Given the description of an element on the screen output the (x, y) to click on. 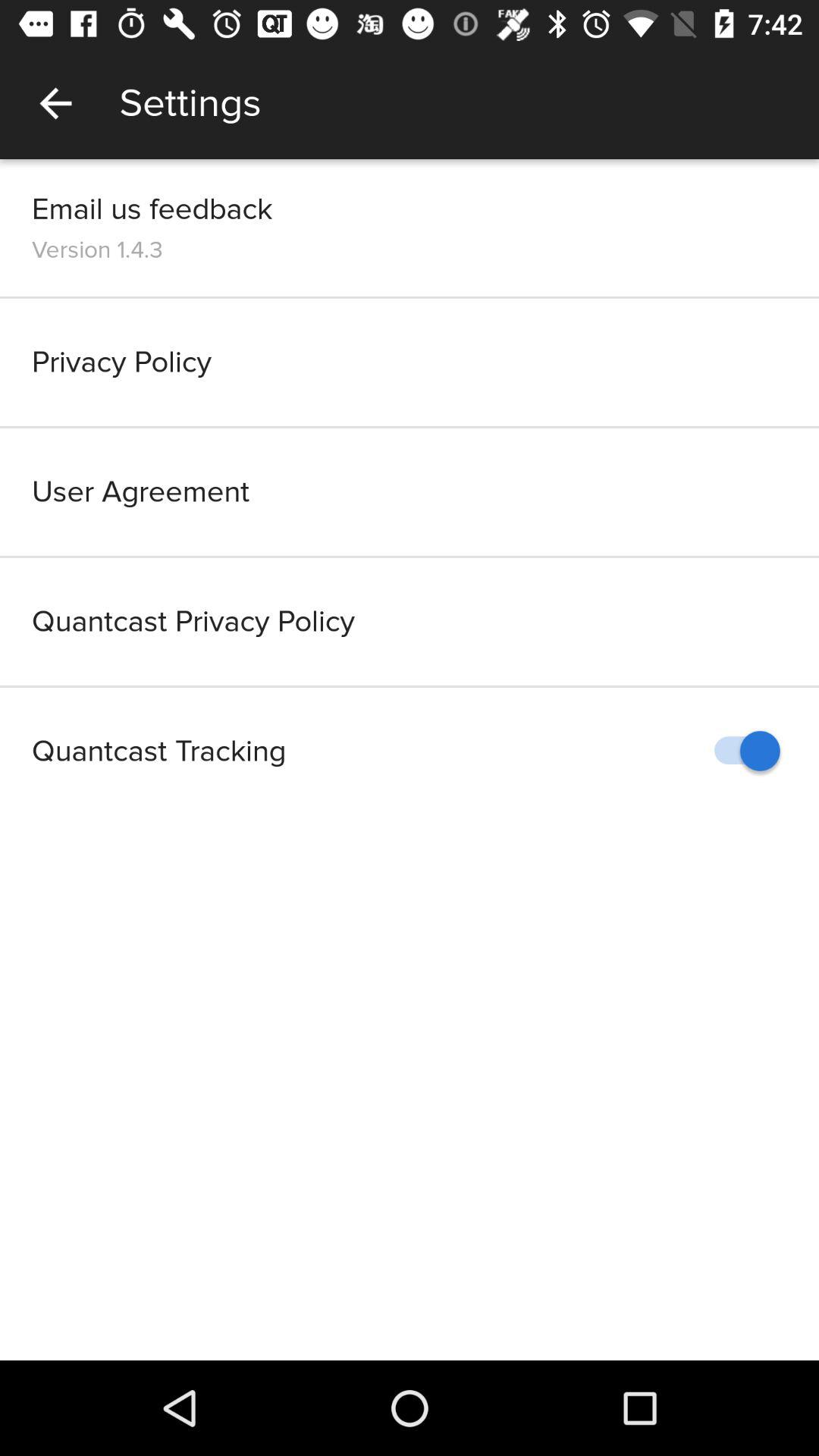
tap the item next to the quantcast tracking icon (739, 751)
